Given the description of an element on the screen output the (x, y) to click on. 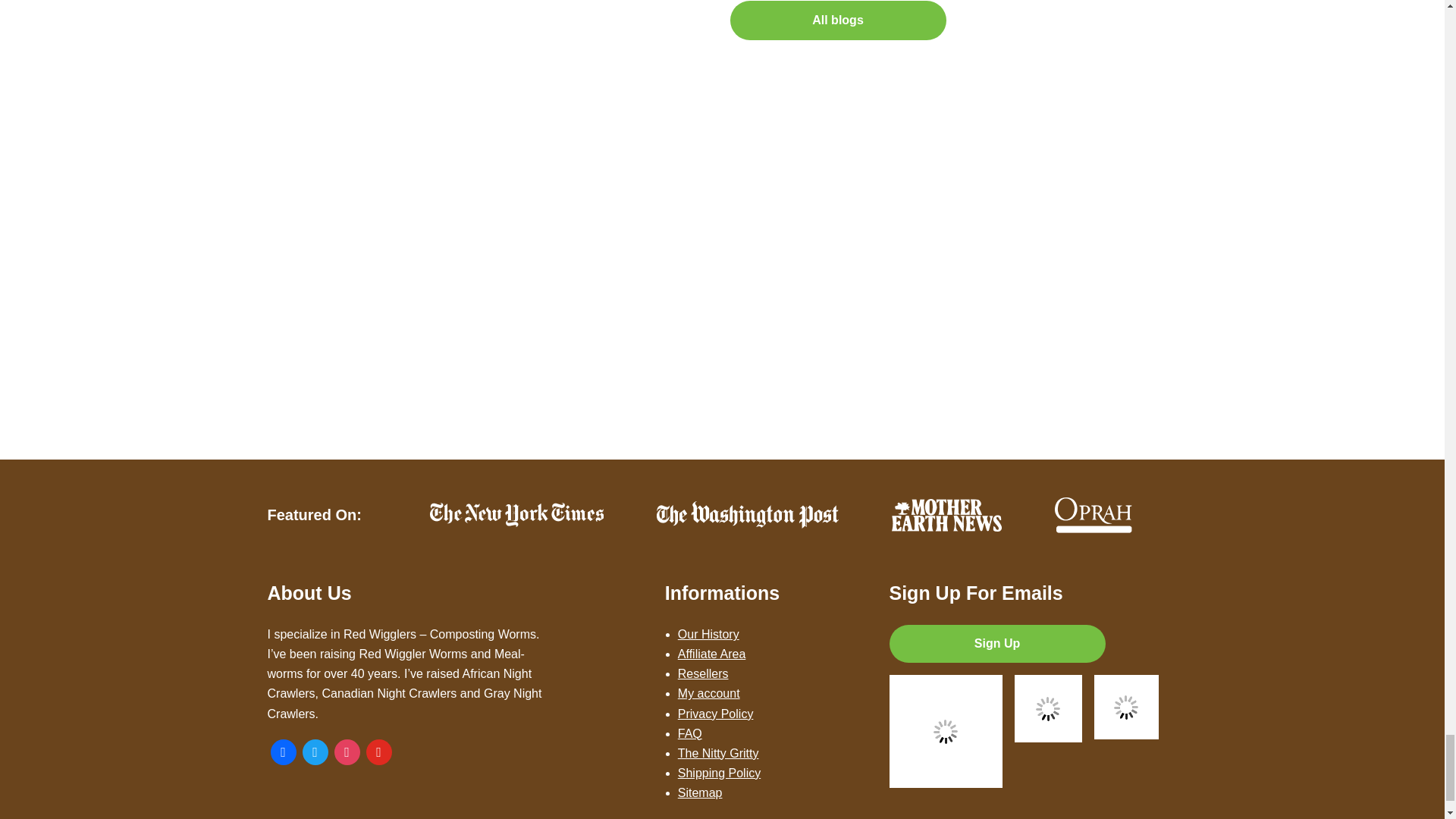
washington (747, 514)
X (314, 750)
newmen (946, 514)
newtimes (516, 514)
oprah (1093, 515)
Facebook (282, 750)
Instagram (346, 750)
